Given the description of an element on the screen output the (x, y) to click on. 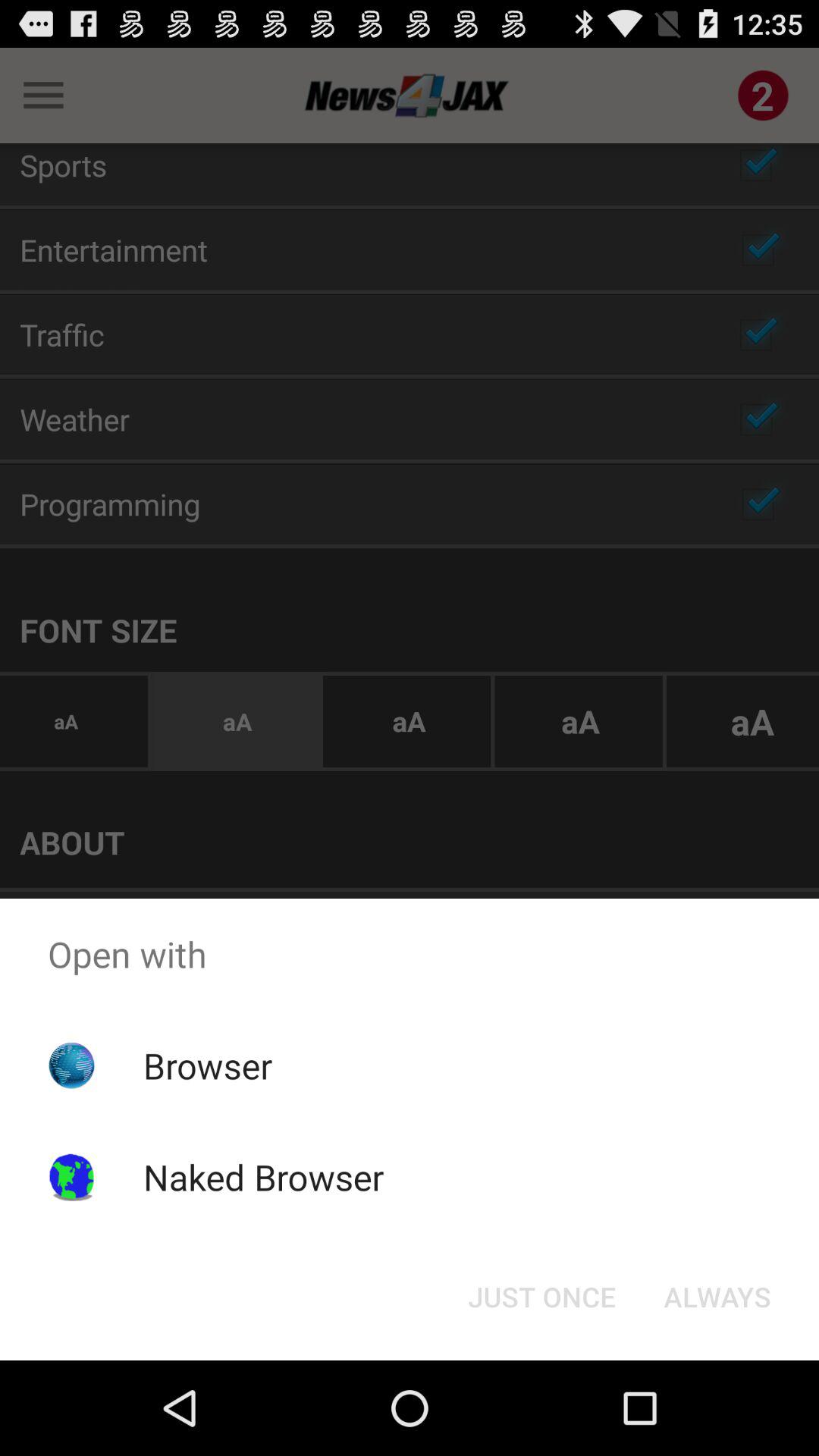
flip to just once icon (541, 1296)
